Given the description of an element on the screen output the (x, y) to click on. 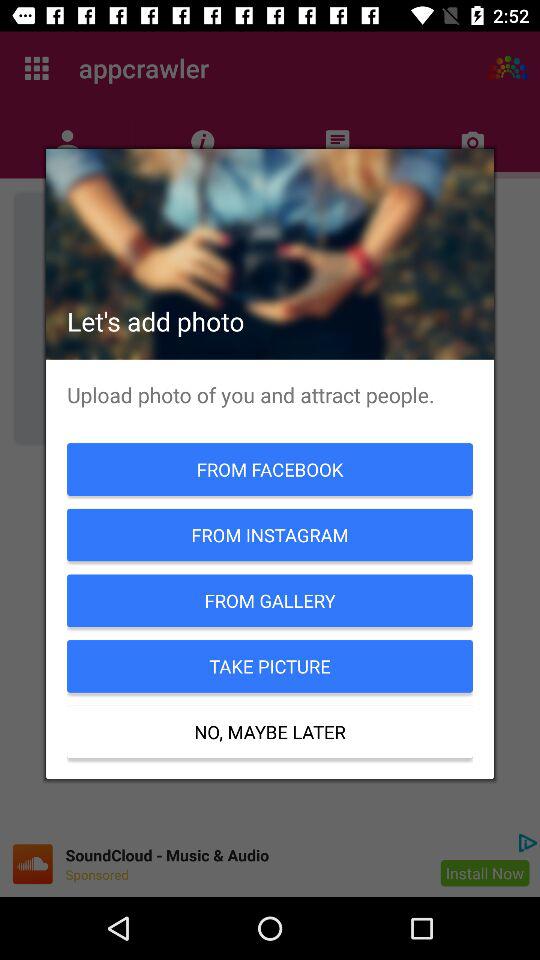
scroll to take picture icon (269, 666)
